Given the description of an element on the screen output the (x, y) to click on. 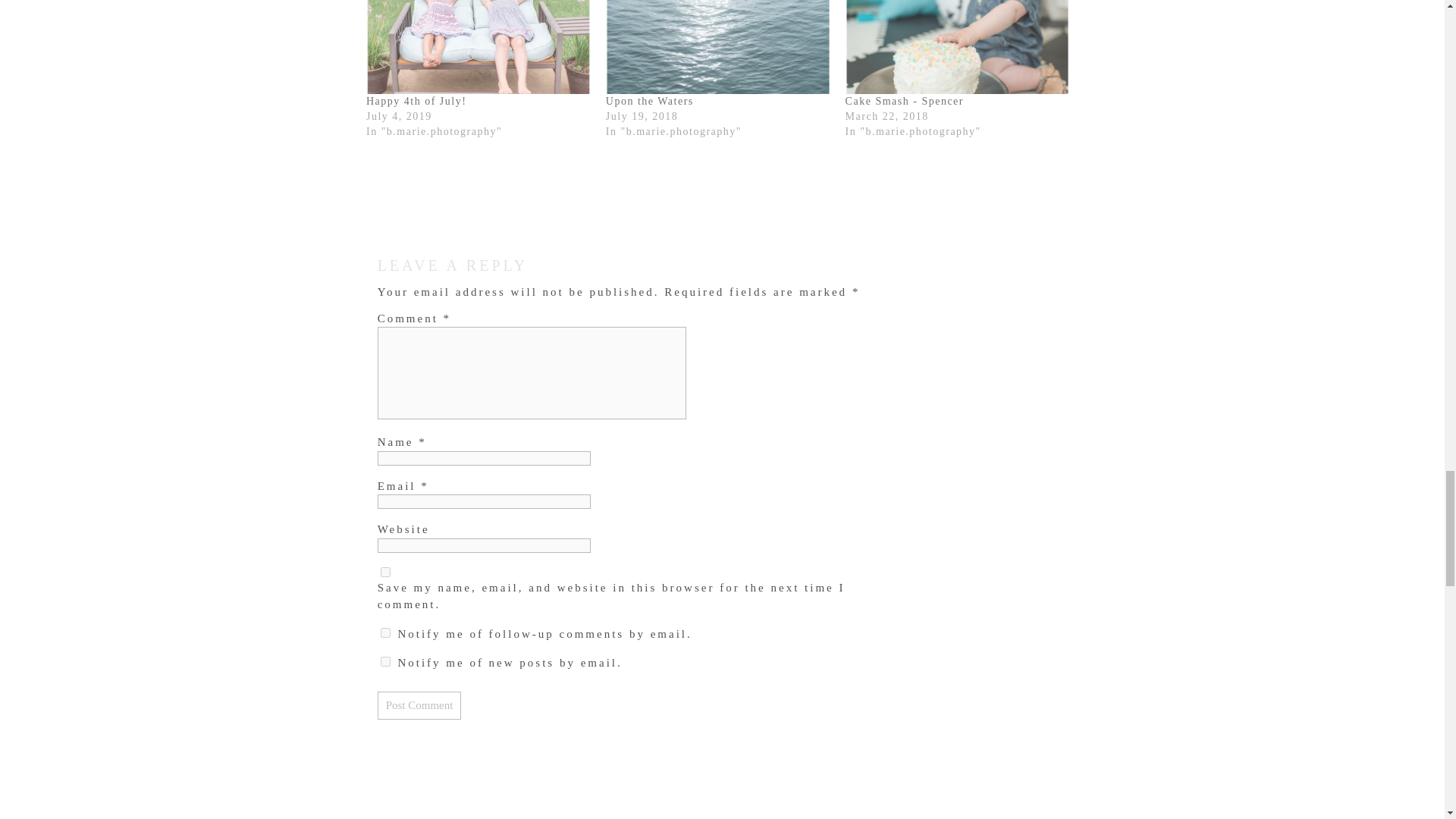
Happy 4th of July! (415, 101)
Upon the Waters (649, 101)
Post Comment (419, 705)
subscribe (385, 633)
Cake Smash - Spencer (904, 101)
subscribe (385, 661)
Post Comment (419, 705)
yes (385, 572)
